Given the description of an element on the screen output the (x, y) to click on. 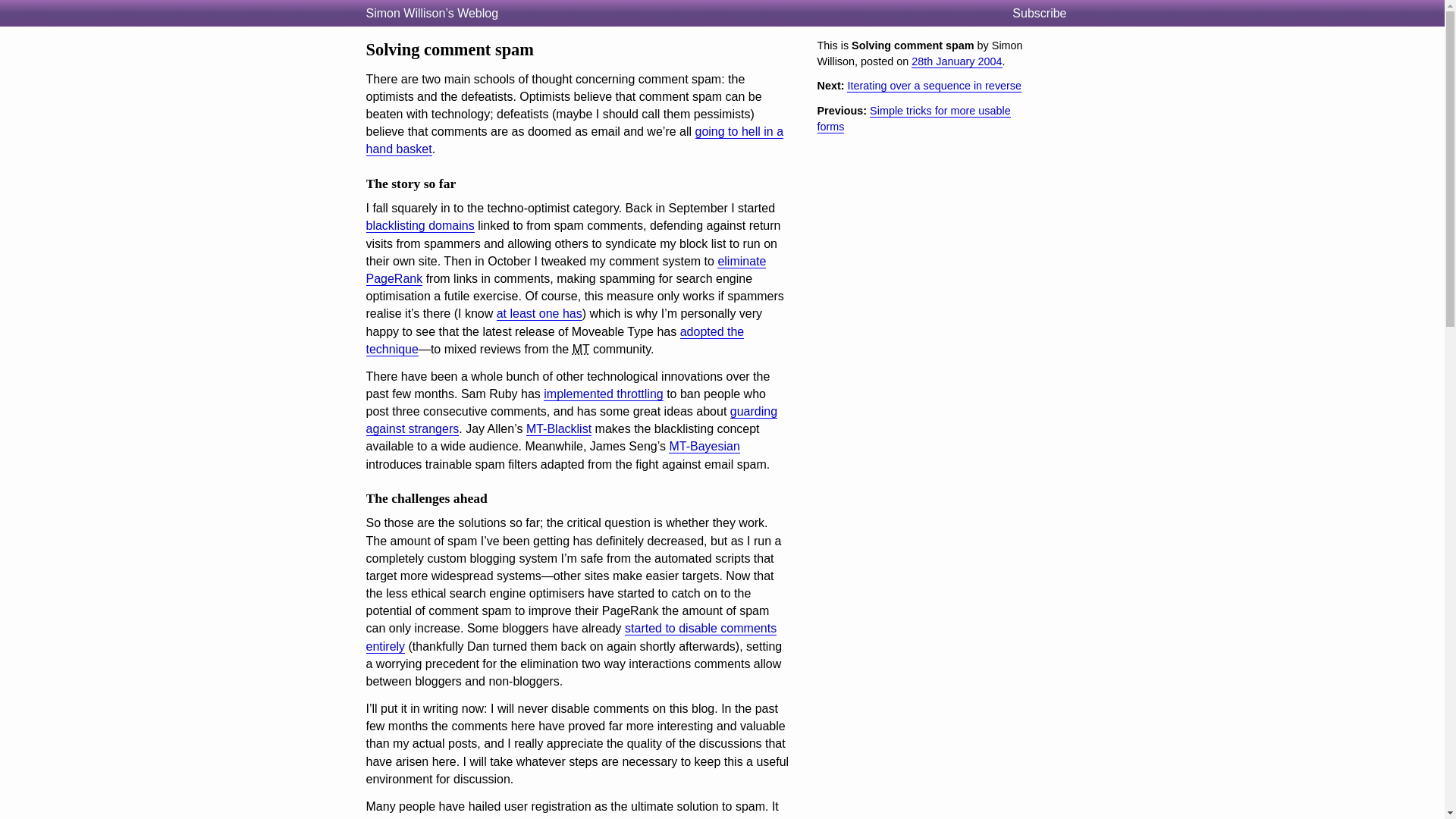
going to hell in a hand basket (574, 140)
New anti-comment-spam measure (565, 269)
Subscribe (1044, 13)
Bayesian filter for MT (703, 446)
dive into mark: Weblog spam (574, 140)
28th January 2004 (956, 61)
Comment Throttle (602, 394)
MT-Blacklist (558, 428)
and they called ME a greedy bastard! (539, 314)
at least one has (539, 314)
MT-Bayesian (703, 446)
Blacklisting Comment Spam (419, 225)
eliminate PageRank (565, 269)
Iterating over a sequence in reverse (934, 85)
blacklisting domains (419, 225)
